Given the description of an element on the screen output the (x, y) to click on. 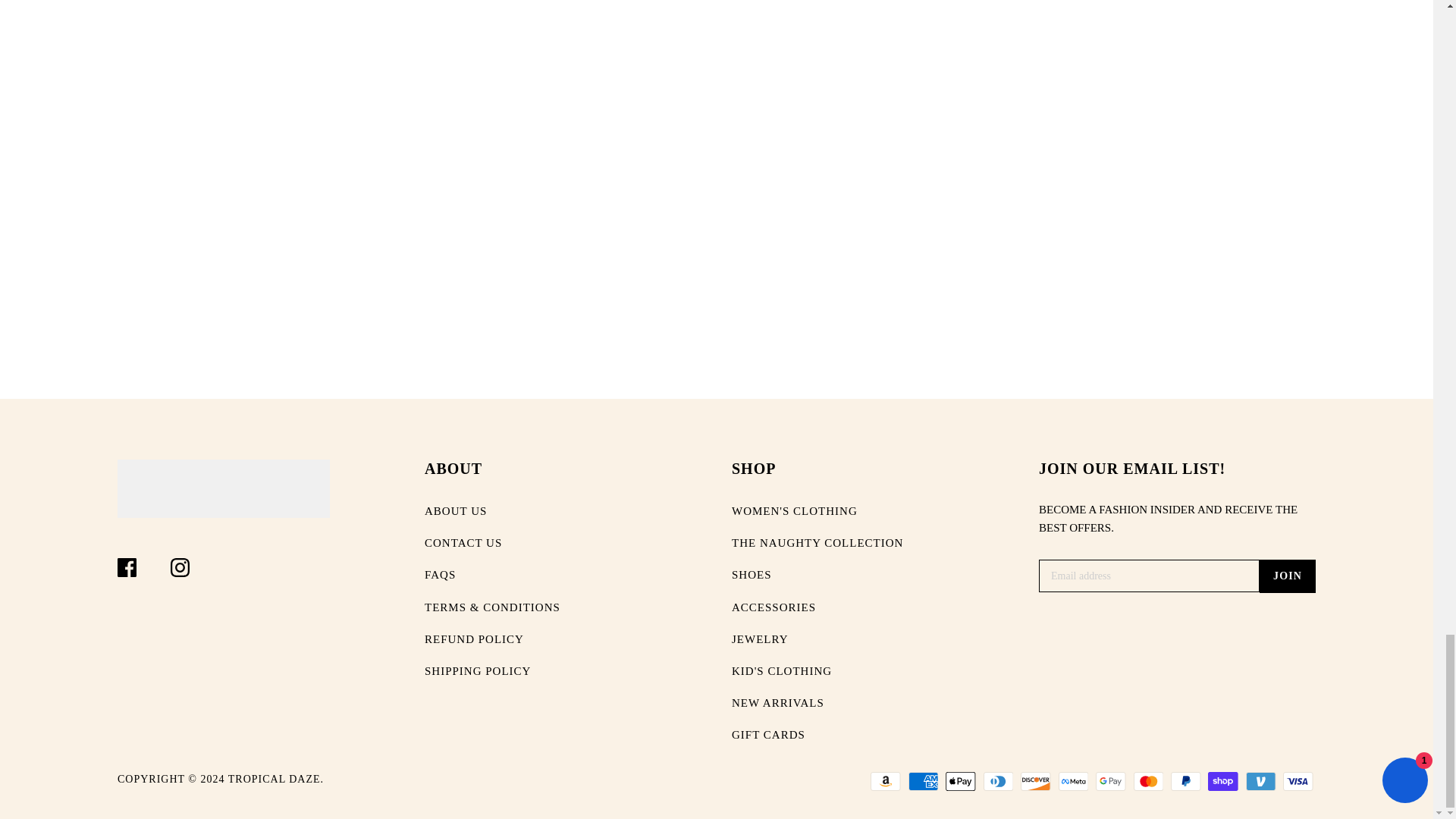
Apple Pay (959, 781)
PayPal (1185, 781)
American Express (923, 781)
Discover (1035, 781)
Facebook (126, 567)
Mastercard (1148, 781)
Instagram (179, 567)
Meta Pay (1073, 781)
Amazon (885, 781)
Google Pay (1110, 781)
Diners Club (998, 781)
